Given the description of an element on the screen output the (x, y) to click on. 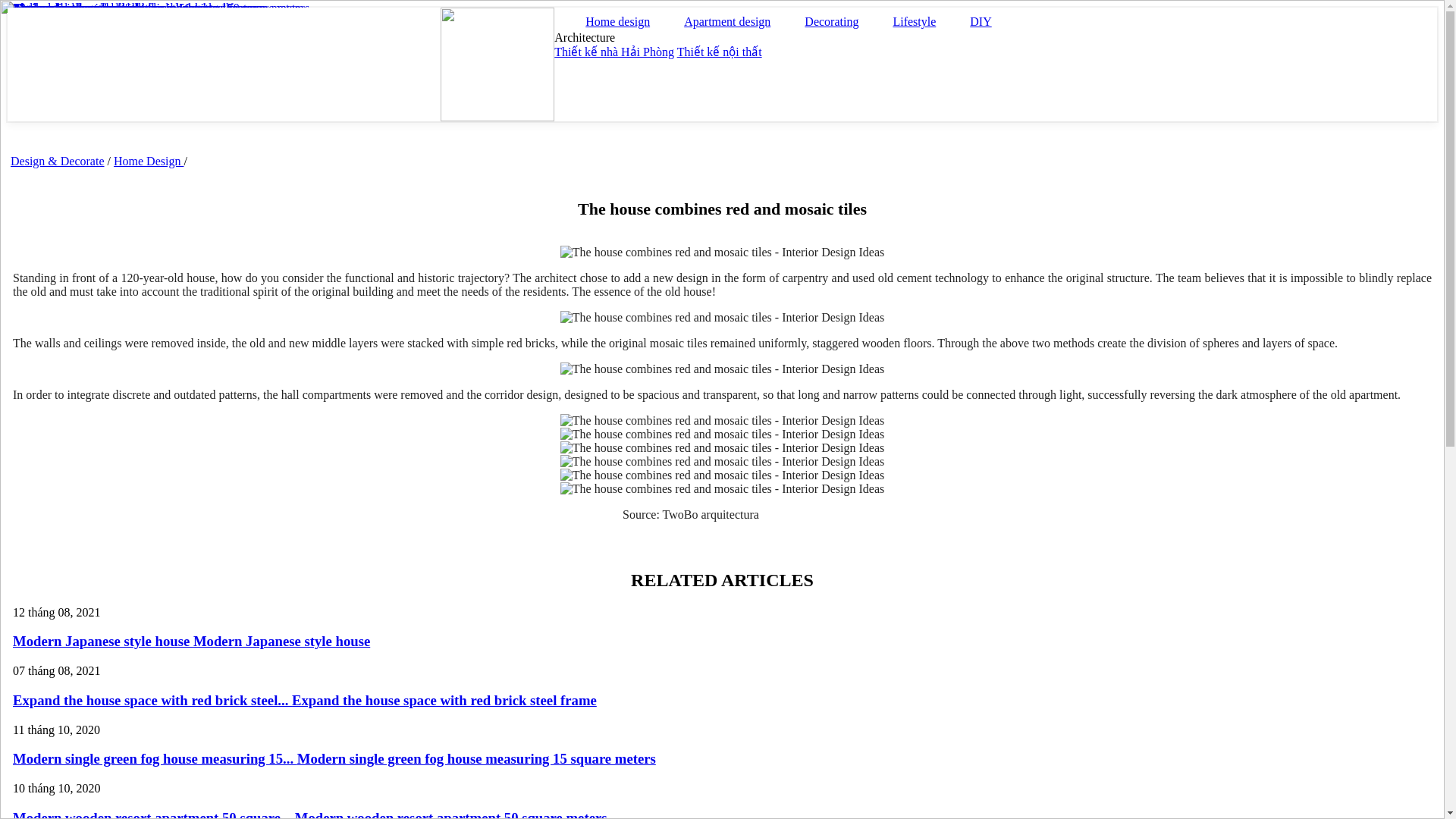
Modern Japanese style house Modern Japanese style house (191, 641)
Lifestyle (910, 18)
Decorating (828, 18)
Home design (614, 18)
Home Design (148, 160)
DIY (976, 18)
Apartment design (724, 18)
